Given the description of an element on the screen output the (x, y) to click on. 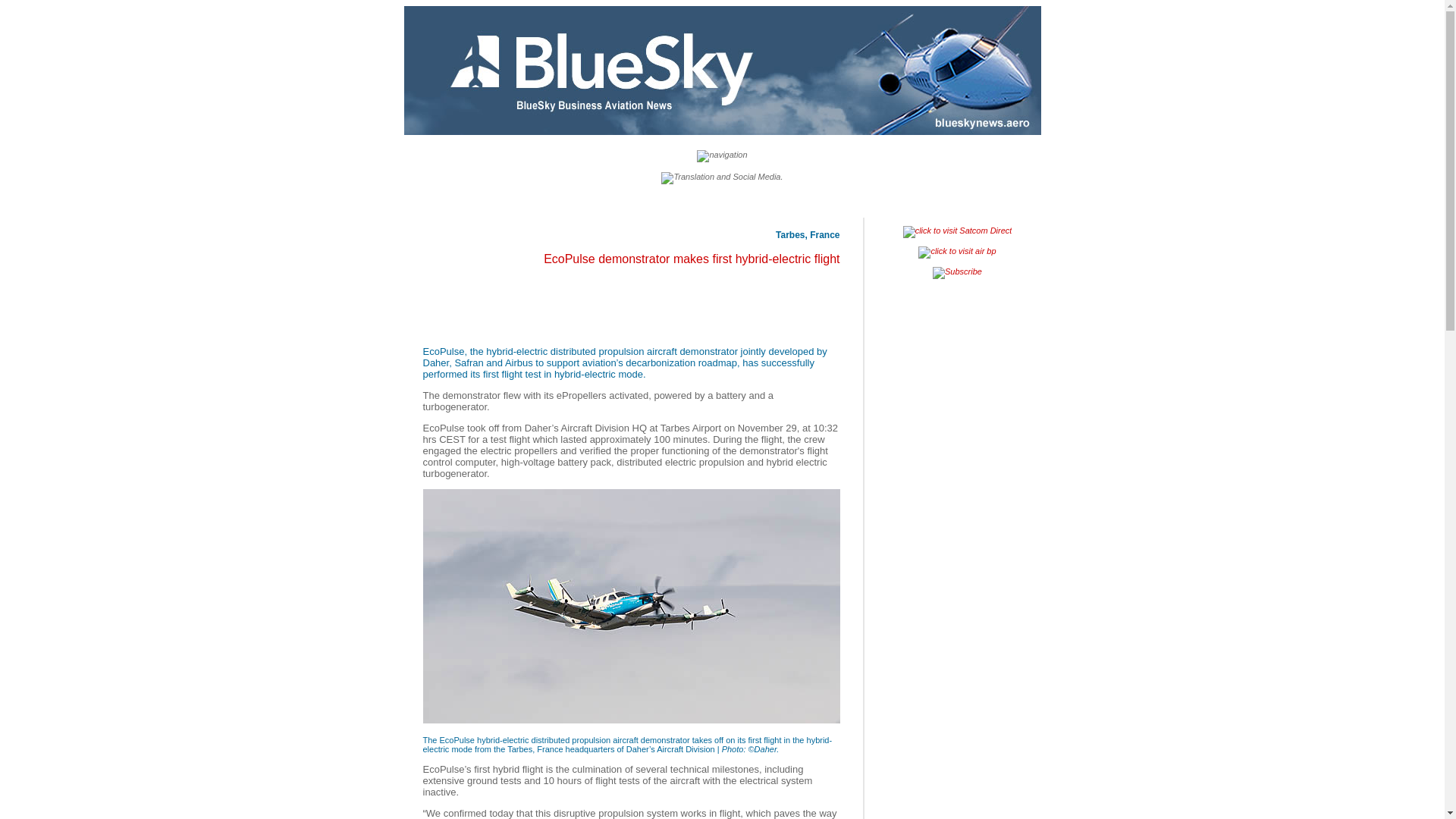
click to visit Satcom Direct (956, 232)
Order your FREE weekly copy (957, 272)
Follow BlueSky on the Google News App (722, 177)
click to visit air bp (956, 252)
Return to front page (722, 70)
